Given the description of an element on the screen output the (x, y) to click on. 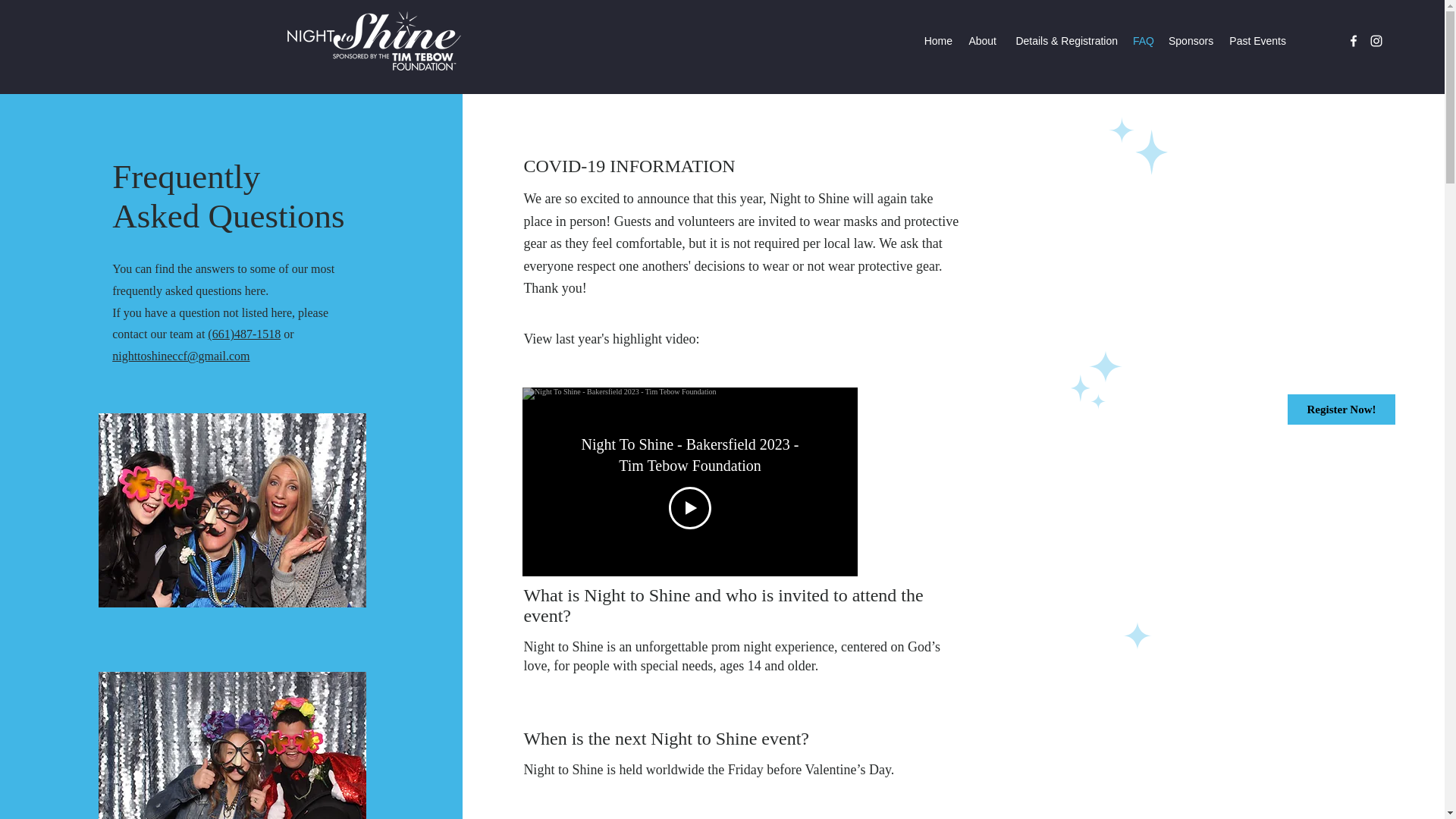
Register Now! (1340, 409)
Sponsors (1190, 40)
FAQ (1142, 40)
About (981, 40)
Past Events (1257, 40)
Night To Shine  - Bakersfield 2023 - Tim Tebow Foundation (690, 454)
Home (937, 40)
